Given the description of an element on the screen output the (x, y) to click on. 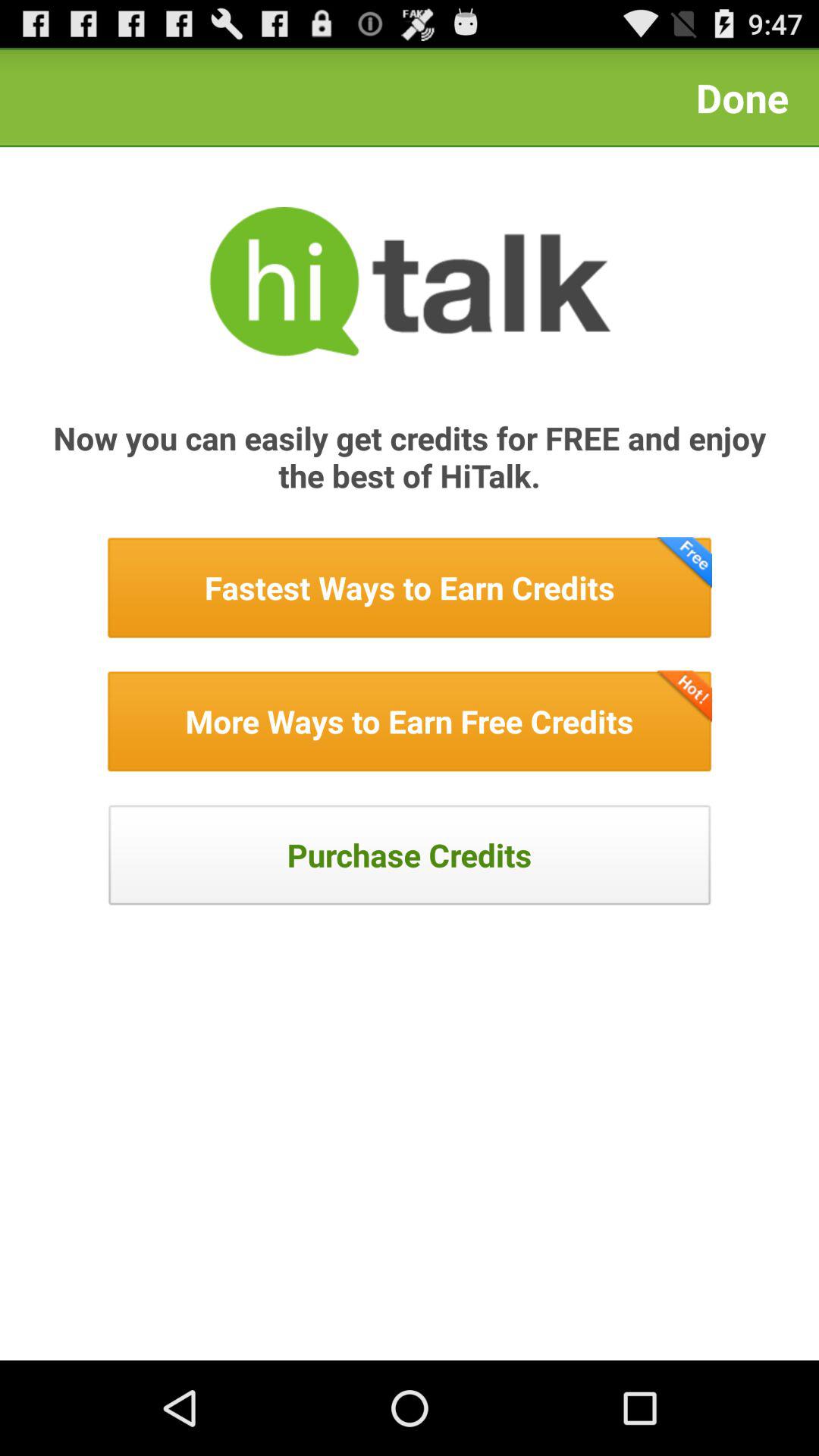
buy credits (409, 855)
